Given the description of an element on the screen output the (x, y) to click on. 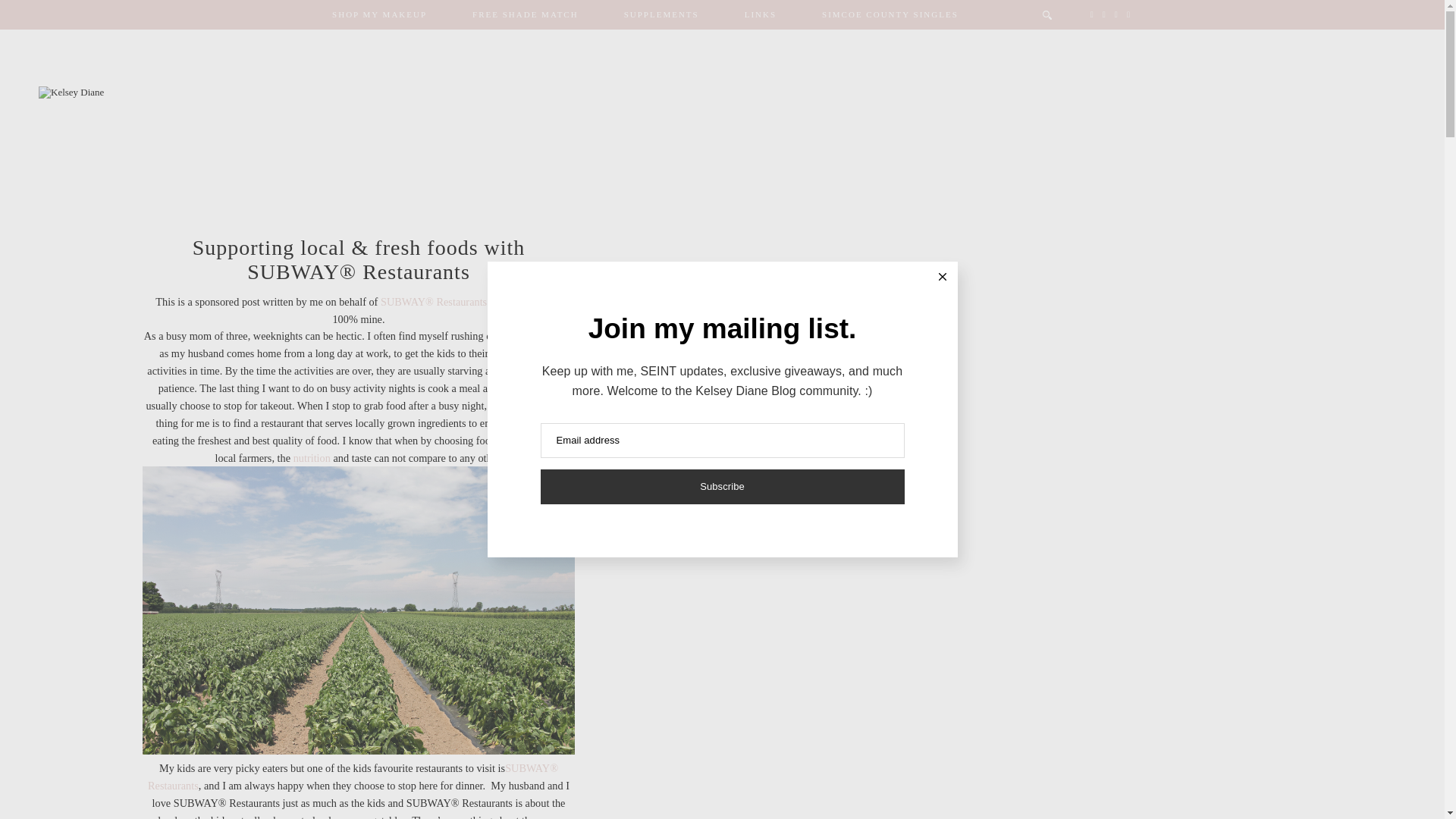
SUPPLEMENTS (661, 14)
SIMCOE COUNTY SINGLES (890, 14)
nutrition (312, 458)
LINKS (760, 14)
SHOP MY MAKEUP (378, 14)
FREE SHADE MATCH (525, 14)
